Given the description of an element on the screen output the (x, y) to click on. 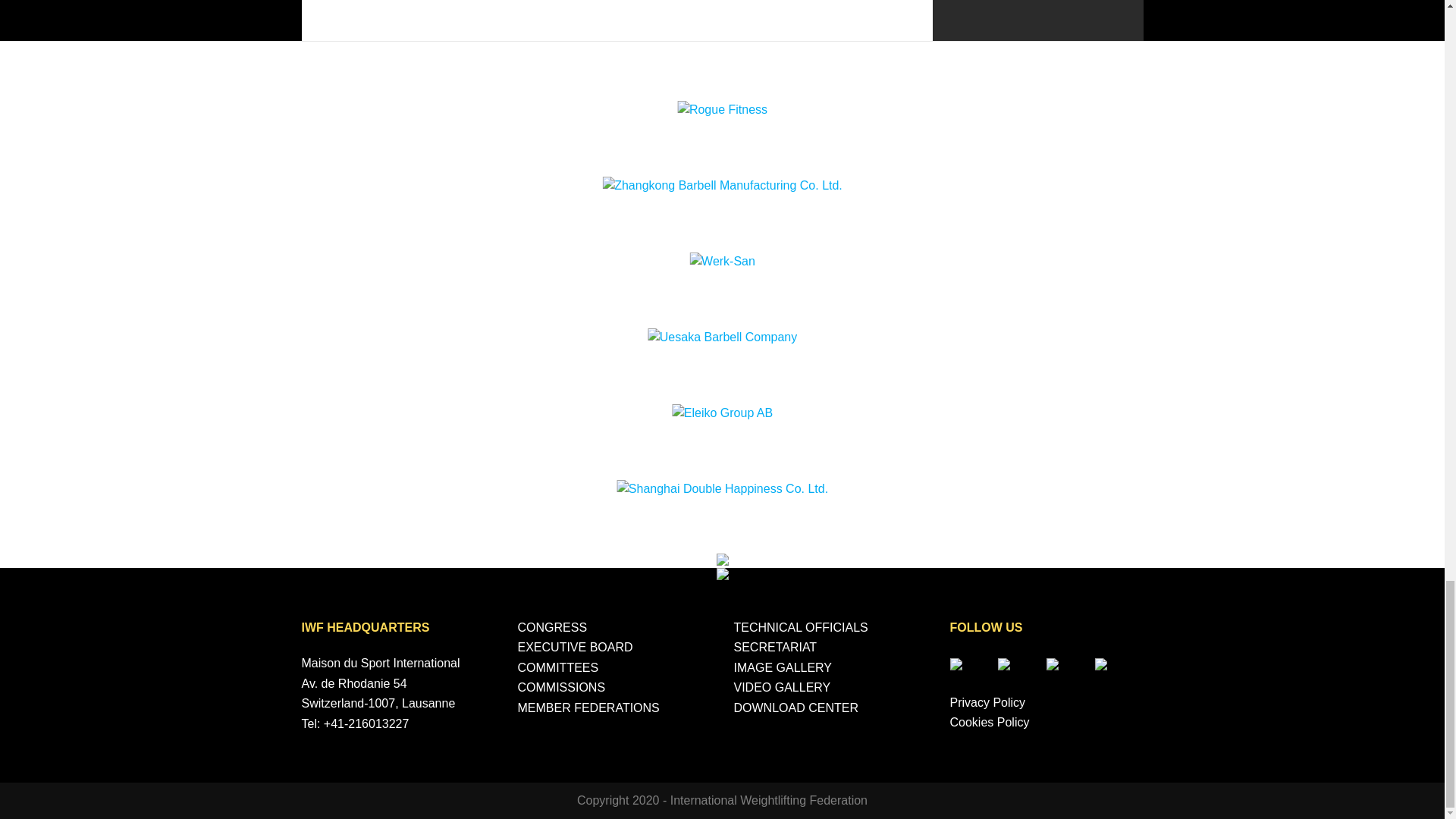
Rogue Fitness (722, 109)
Zhangkong Barbell Manufacturing Co. Ltd. (722, 185)
Uesaka Barbell Company (721, 337)
Werk-San (721, 261)
Eleiko Group AB (722, 413)
Shanghai Double Happiness Co. Ltd. (721, 488)
